Given the description of an element on the screen output the (x, y) to click on. 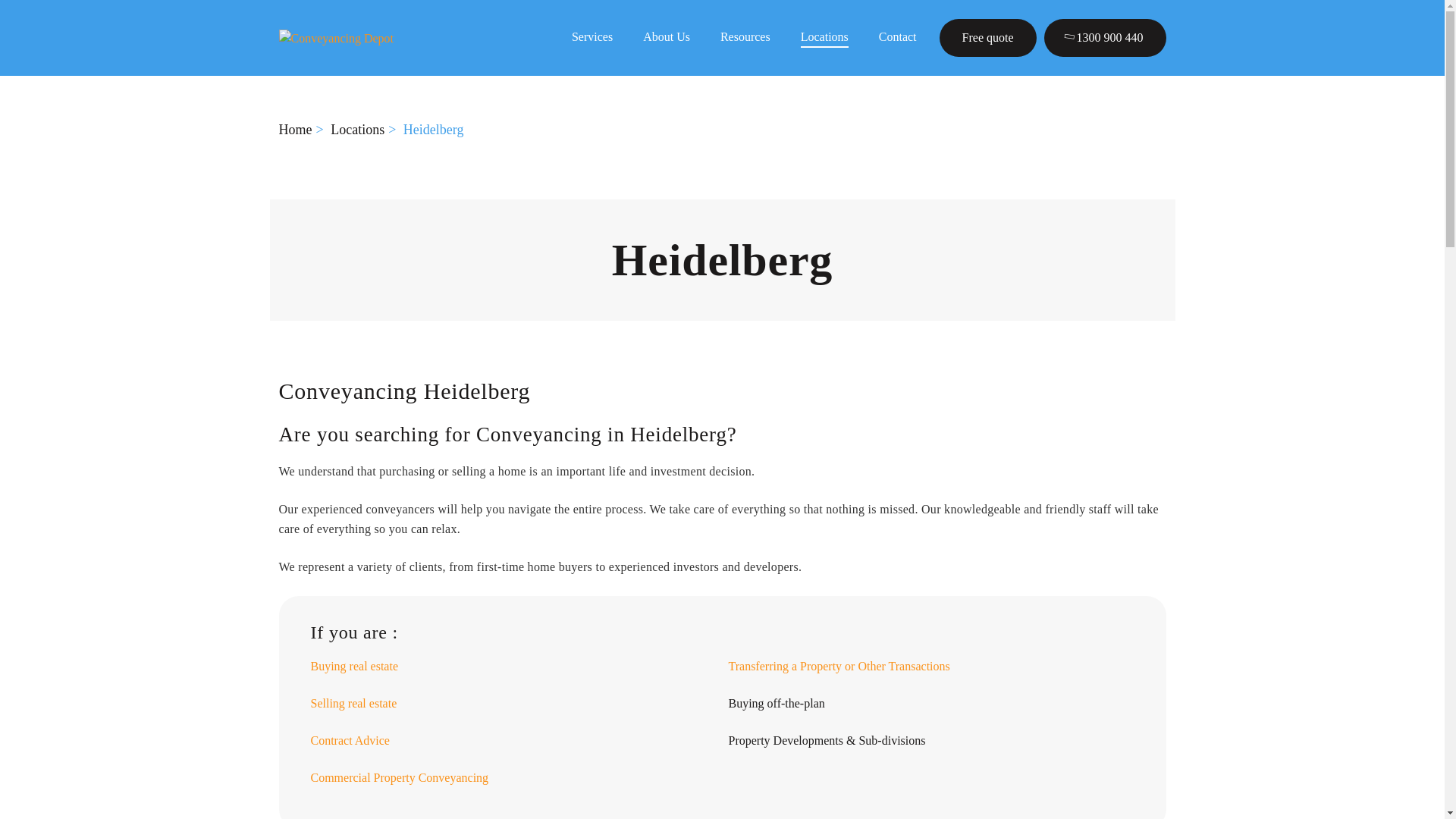
Conveyancing Depot (336, 38)
Contact (898, 36)
Locations (824, 37)
Conveyancing Depot (336, 36)
Home (296, 129)
Free quote (987, 37)
Home (296, 129)
About Us (666, 36)
1300 900 440 (1104, 37)
Resources (745, 36)
